Given the description of an element on the screen output the (x, y) to click on. 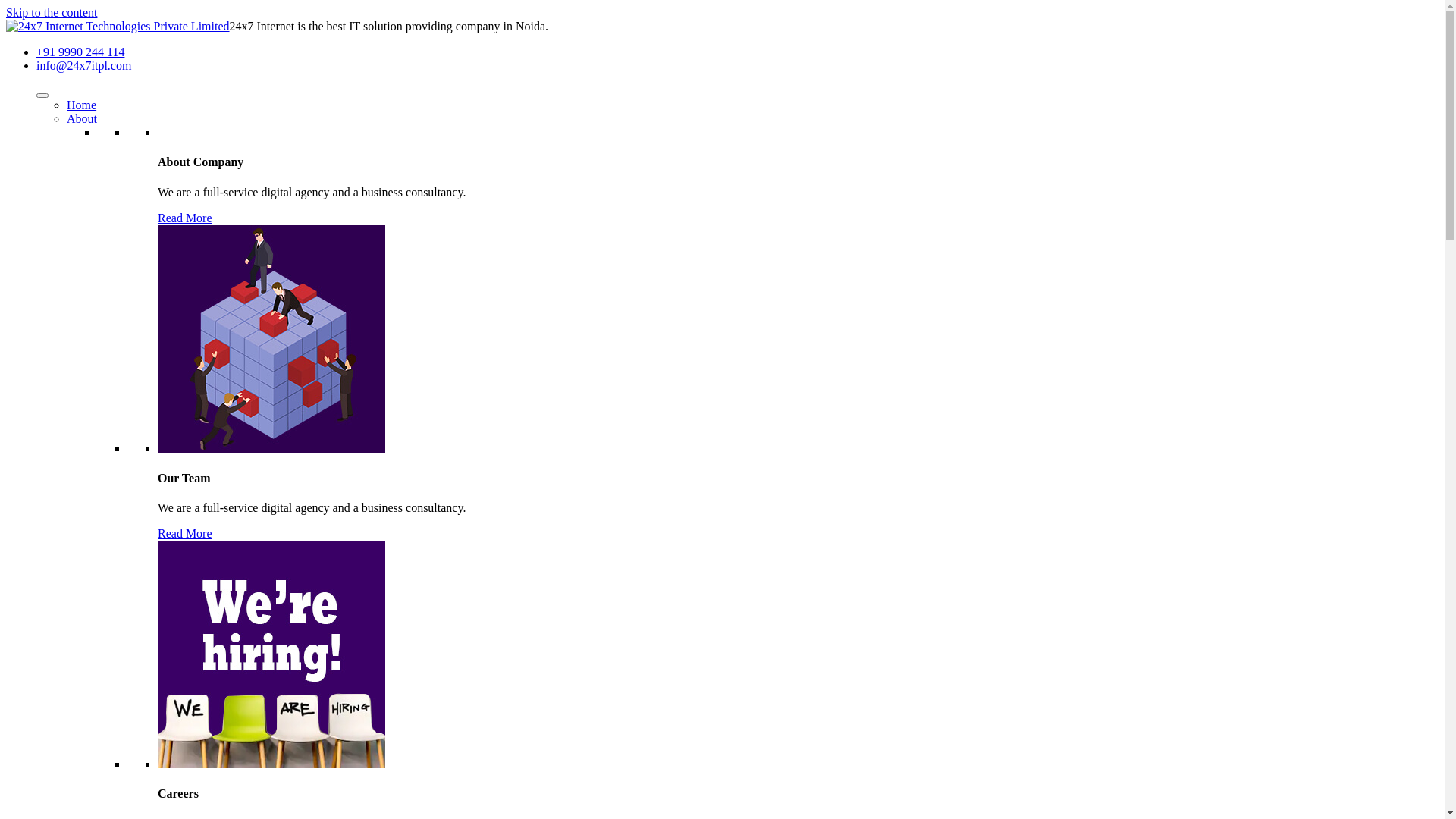
Home Element type: text (81, 104)
info@24x7itpl.com Element type: text (83, 65)
+91 9990 244 114 Element type: text (80, 51)
About Element type: text (81, 118)
Read More Element type: text (184, 217)
Skip to the content Element type: text (51, 12)
Read More Element type: text (184, 533)
